Given the description of an element on the screen output the (x, y) to click on. 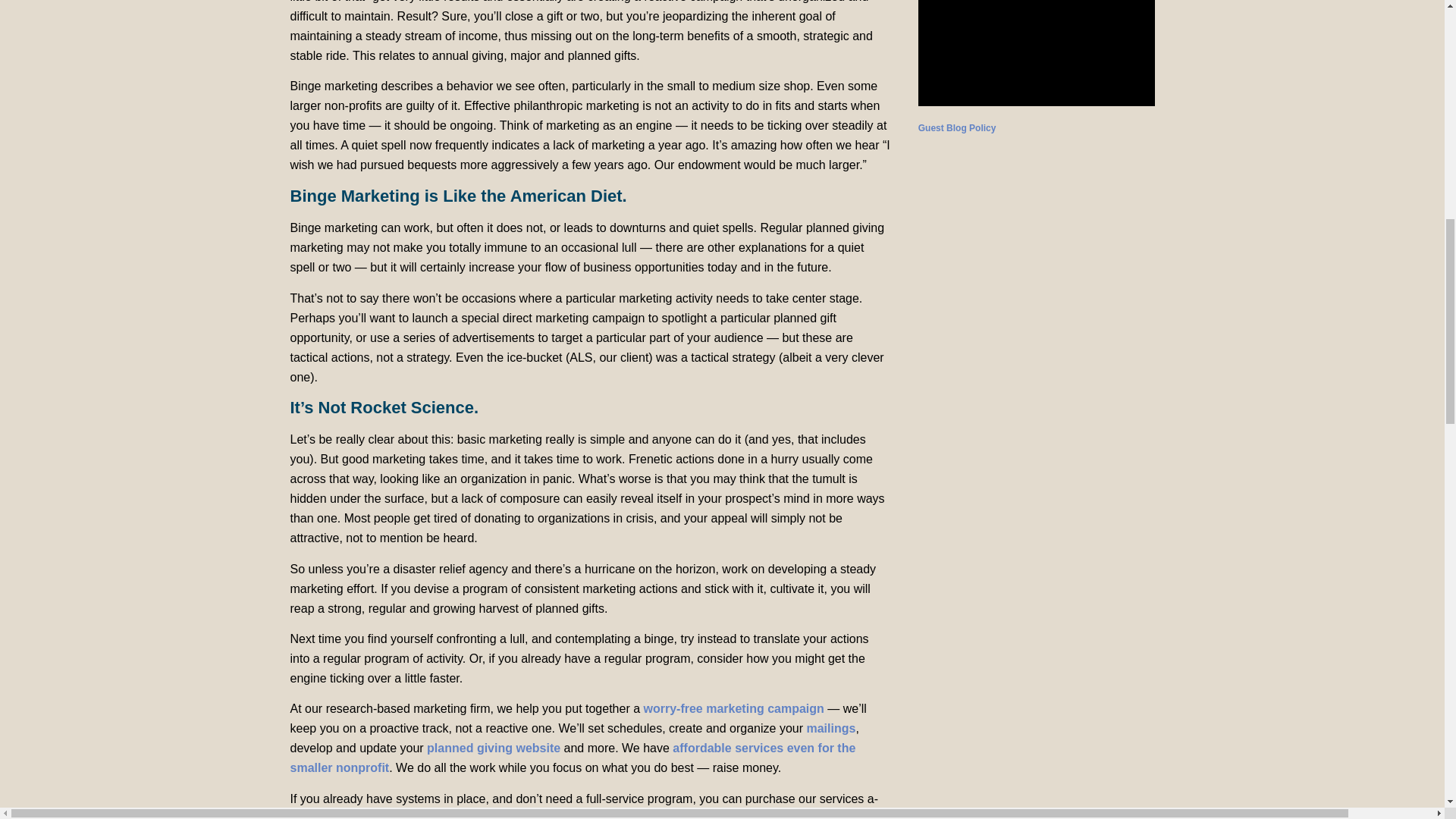
vimeo Video Player (1036, 53)
